Given the description of an element on the screen output the (x, y) to click on. 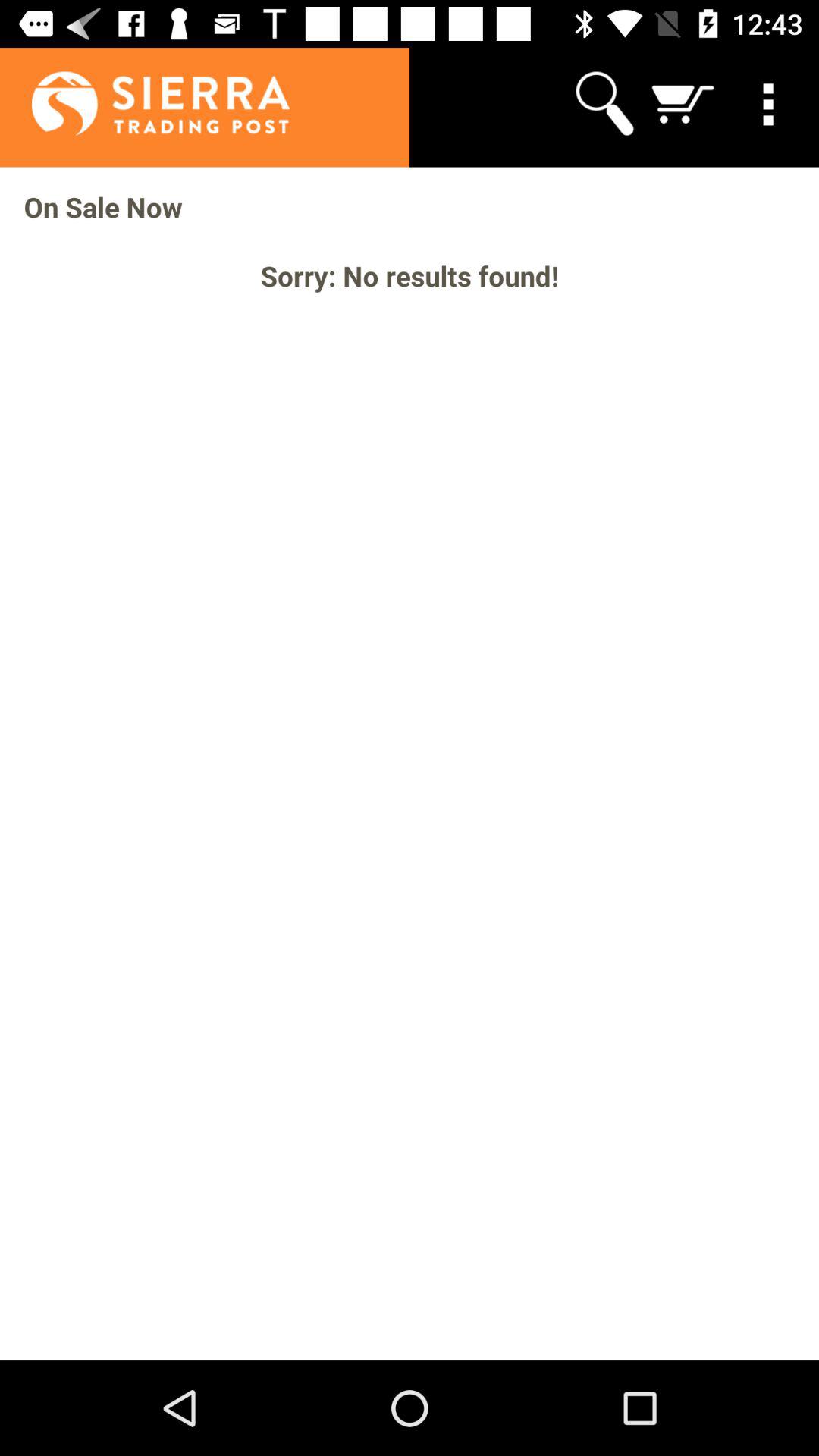
press app above on sale now icon (683, 103)
